Given the description of an element on the screen output the (x, y) to click on. 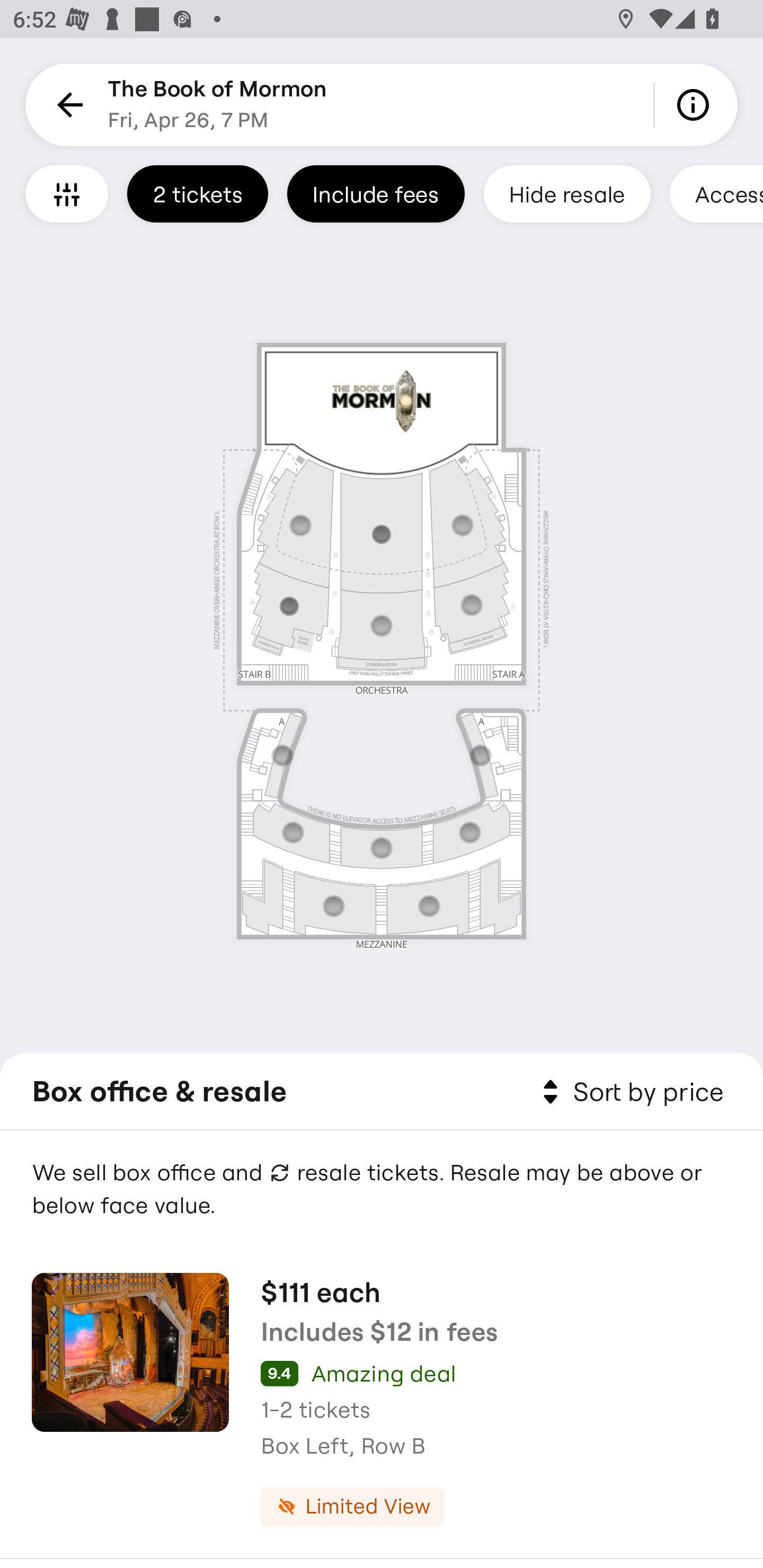
Back The Book of Mormon Fri, Apr 26, 7 PM Info (381, 104)
Back (66, 104)
The Book of Mormon Fri, Apr 26, 7 PM (217, 104)
Info (695, 104)
Filters and Accessible Seating (66, 193)
2 tickets (197, 193)
Include fees (375, 193)
Hide resale (566, 193)
Access code (716, 193)
Sort by price (629, 1091)
